Given the description of an element on the screen output the (x, y) to click on. 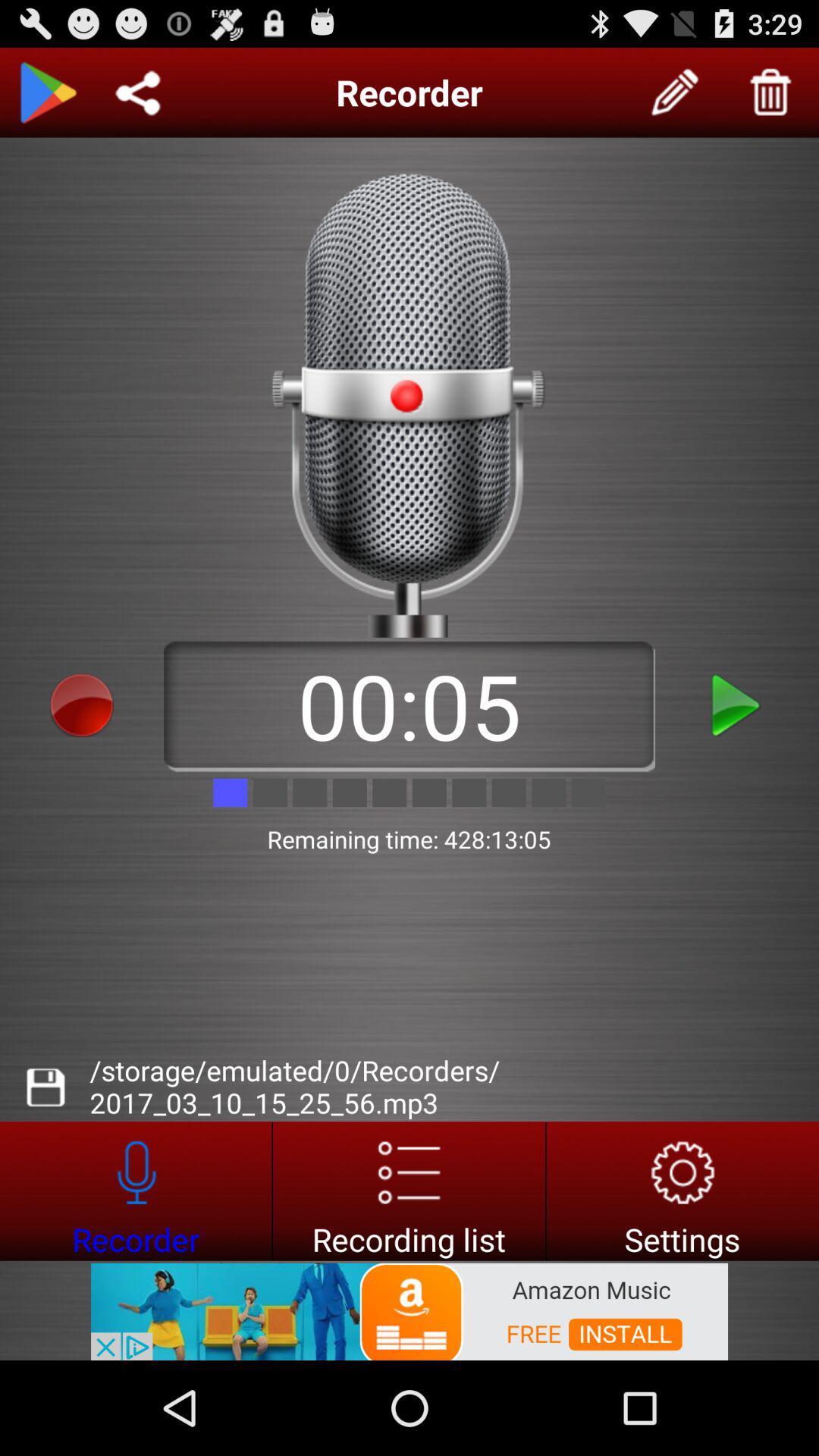
check location (137, 92)
